Given the description of an element on the screen output the (x, y) to click on. 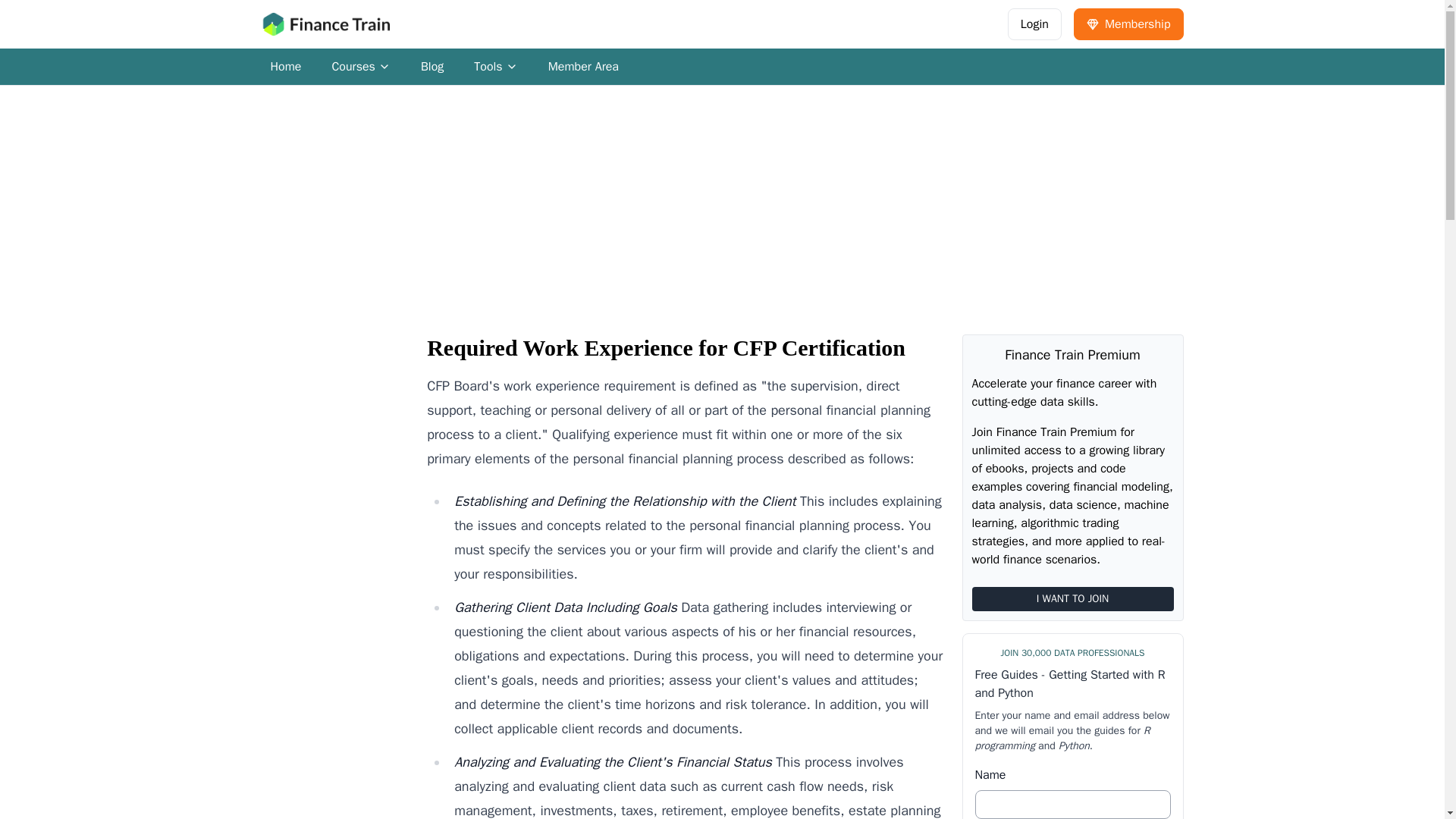
I WANT TO JOIN (1072, 598)
Home (285, 66)
Membership (1128, 24)
Login (1034, 24)
Member Area (360, 66)
Blog (495, 66)
